Given the description of an element on the screen output the (x, y) to click on. 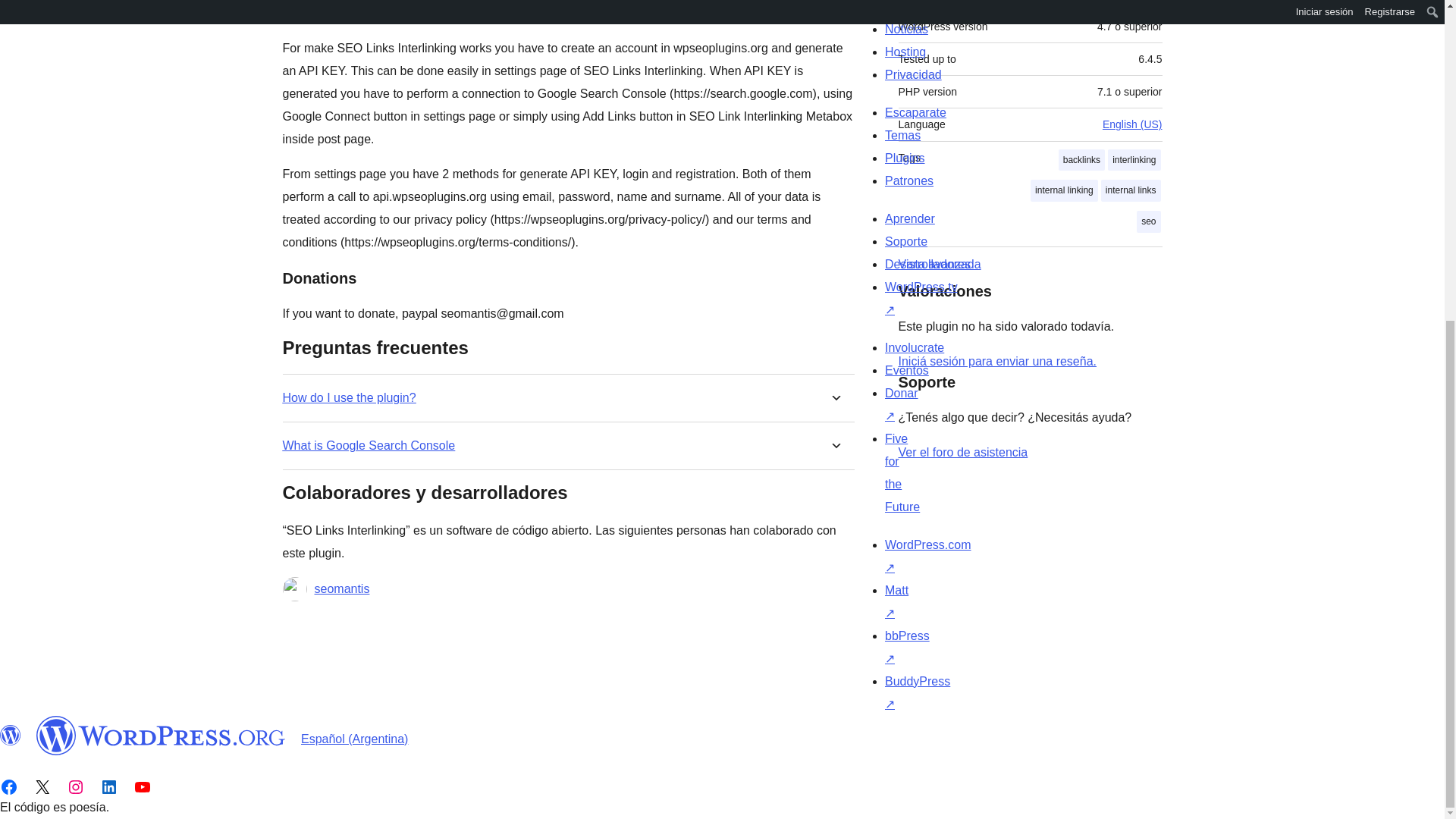
How do I use the plugin? (348, 397)
WordPress.org (10, 735)
seomantis (341, 589)
WordPress.org (160, 735)
What is Google Search Console (368, 445)
